Given the description of an element on the screen output the (x, y) to click on. 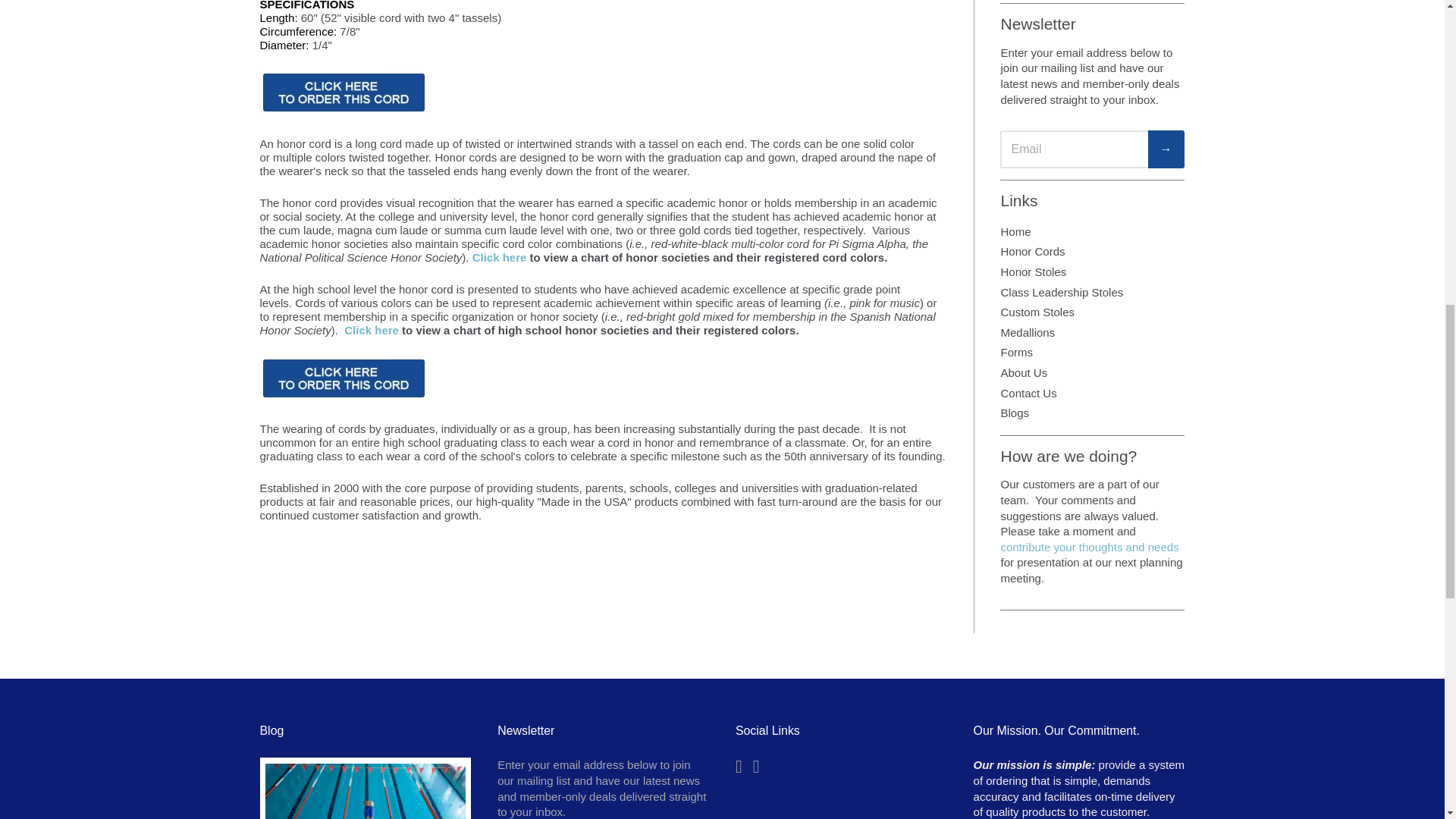
Click here (499, 256)
High School Honor Societies (370, 329)
Blogs (1092, 413)
Class Leadership Stoles (1092, 291)
Click here (370, 329)
College Honor Society Cord Color Guide (499, 256)
Home (1092, 231)
Honor Cords (1092, 251)
Forms (1092, 353)
contribute your thoughts and needs (1088, 546)
Contact Us (1092, 394)
Honor Stoles (1092, 272)
